Given the description of an element on the screen output the (x, y) to click on. 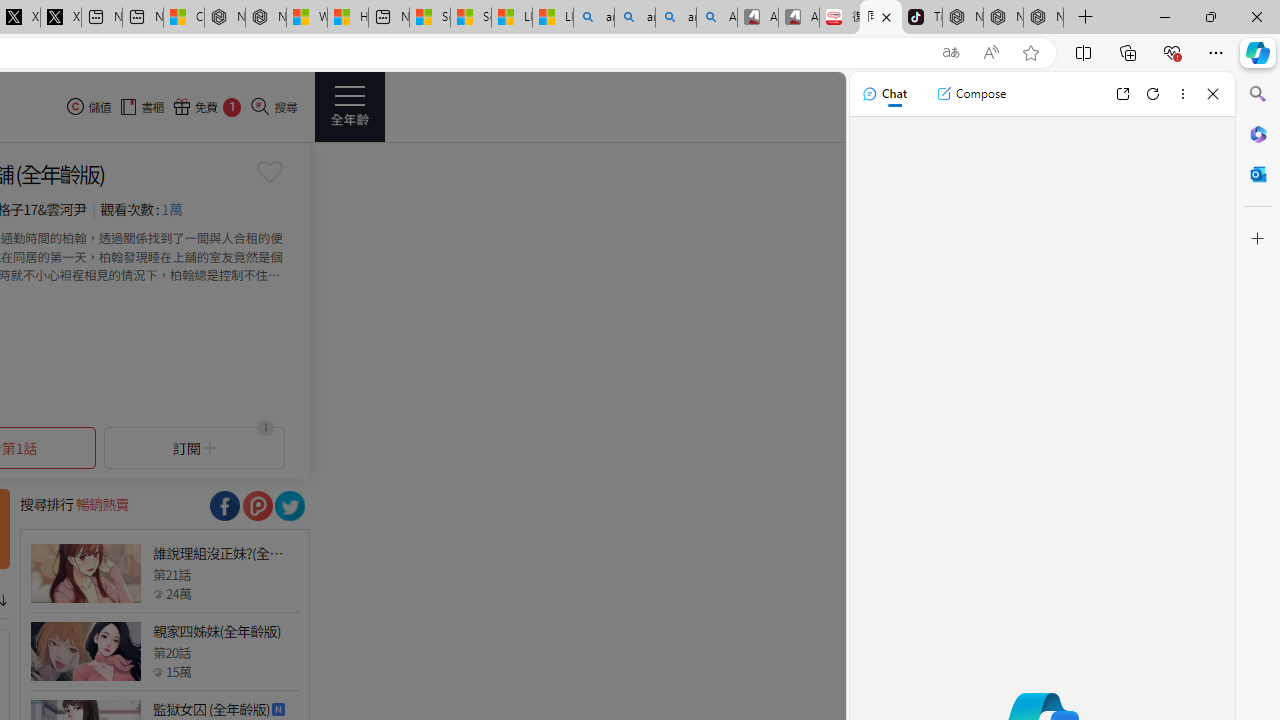
Class: epicon_starpoint (158, 671)
Nordace Siena Pro 15 Backpack (1003, 17)
